Given the description of an element on the screen output the (x, y) to click on. 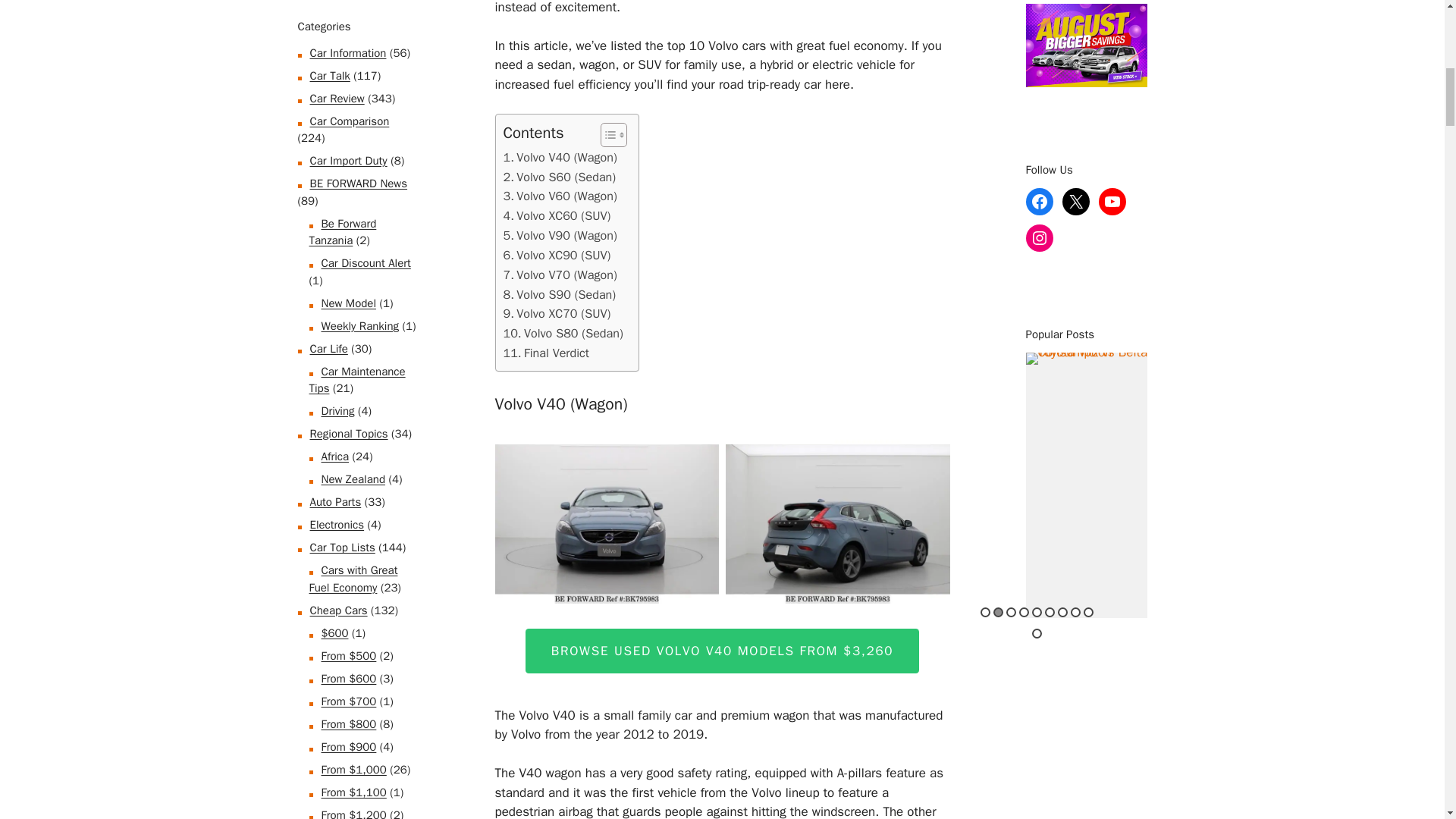
Final Verdict (546, 353)
